Given the description of an element on the screen output the (x, y) to click on. 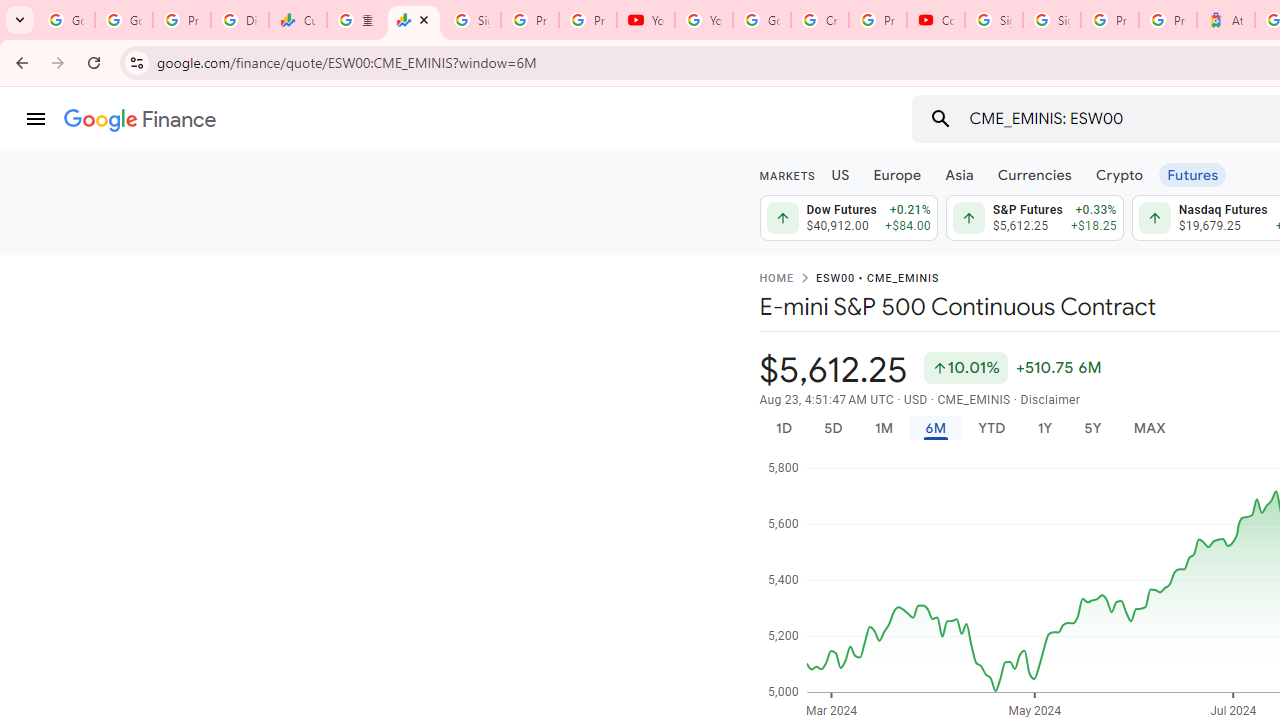
US (840, 174)
YouTube (703, 20)
S&P Futures $5,612.25 Up by 0.33% +$18.25 (1033, 218)
Privacy Checkup (587, 20)
MAX (1149, 427)
1D (783, 427)
1Y (1044, 427)
Europe (897, 174)
Futures (1192, 174)
HOME (776, 279)
